Given the description of an element on the screen output the (x, y) to click on. 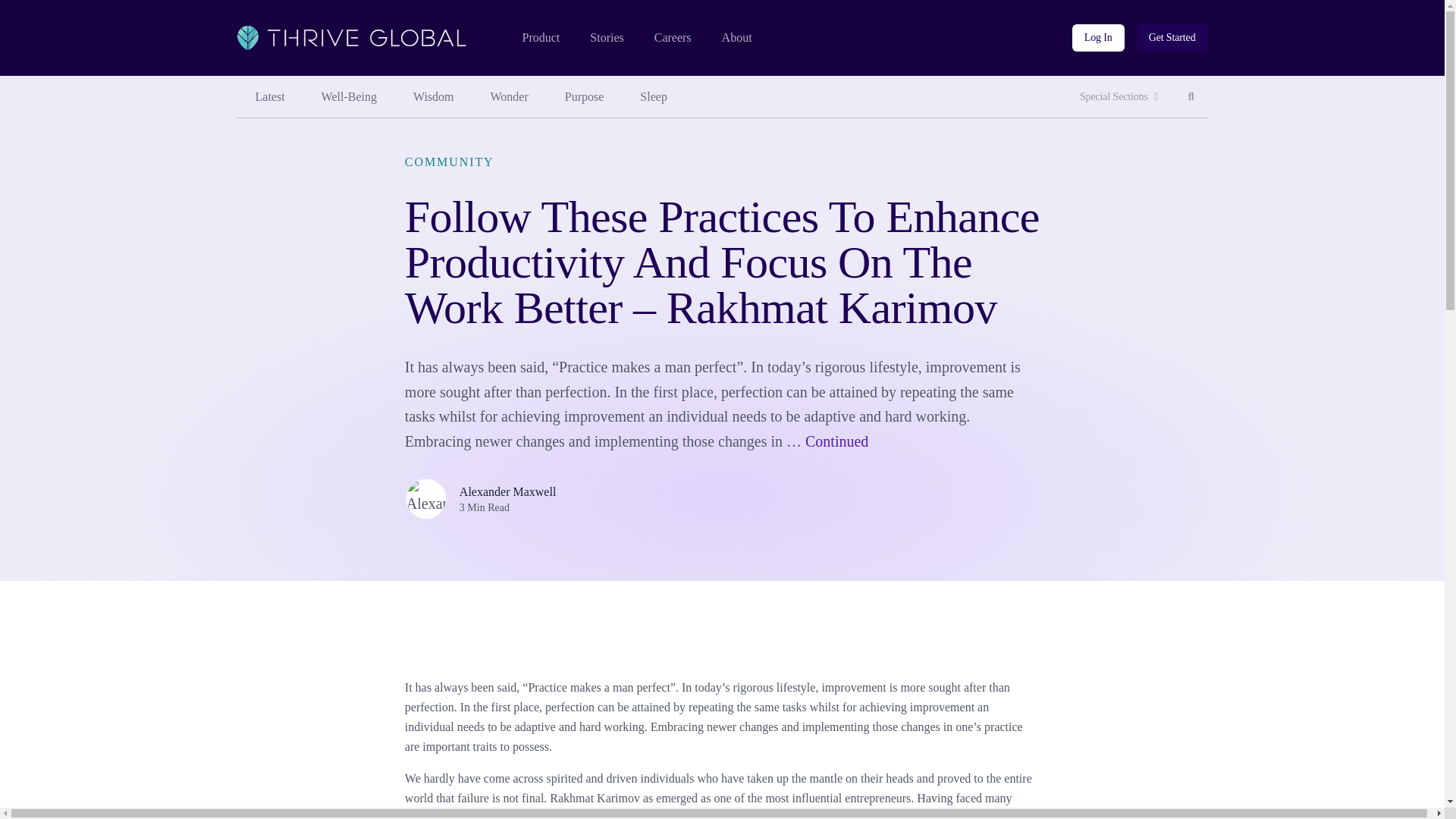
Product (1191, 97)
Search site (540, 37)
Wisdom (1190, 96)
Careers (432, 96)
Special Sections (672, 37)
Latest (1118, 97)
Get Started (268, 96)
Sleep (1172, 37)
Wonder (653, 96)
Well-Being (509, 96)
Purpose (348, 96)
Stories (585, 96)
Log In (606, 37)
About (1097, 37)
